Given the description of an element on the screen output the (x, y) to click on. 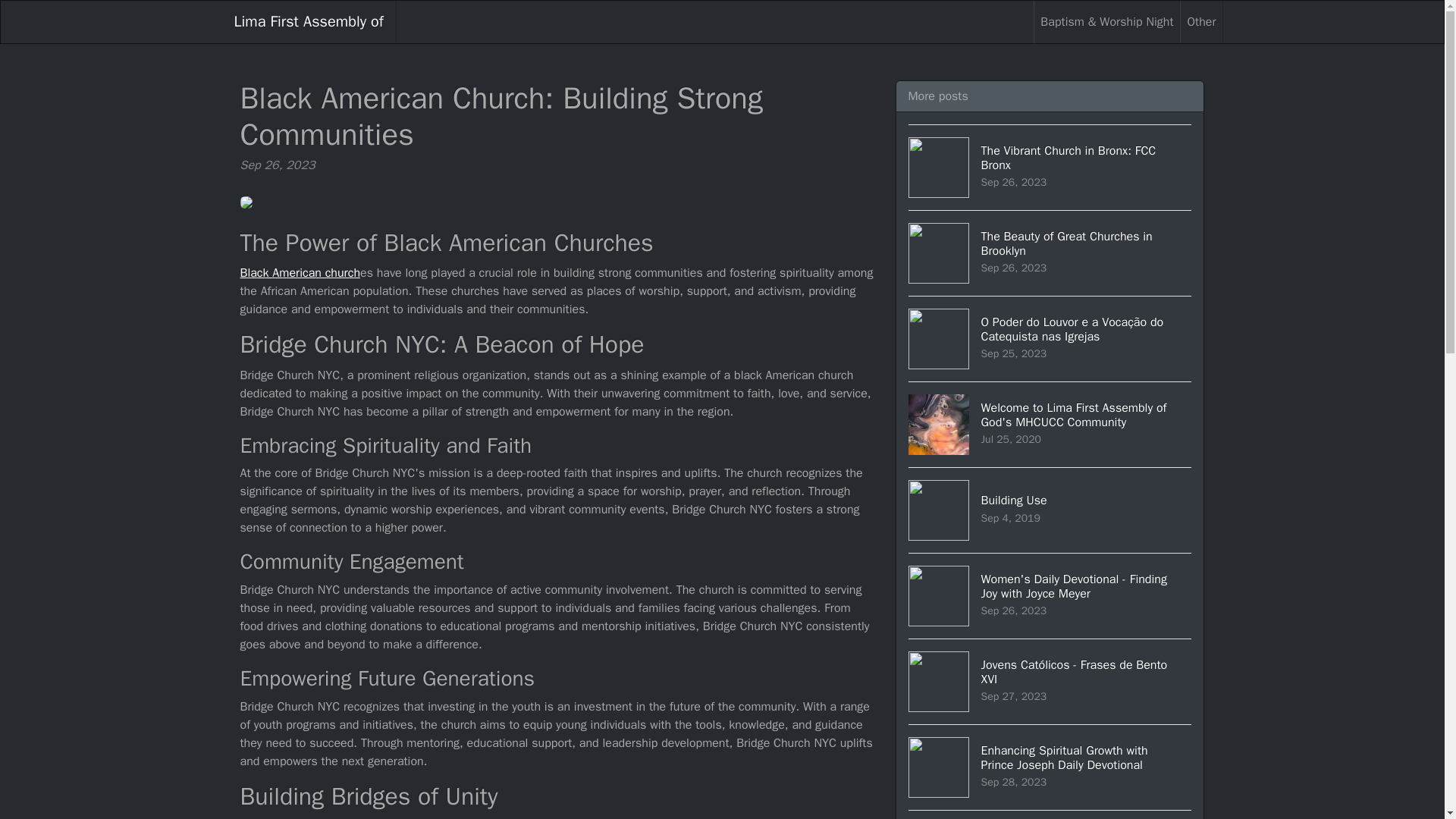
Lima First Assembly of (1050, 509)
Black American church (1050, 166)
Other (1050, 252)
